Given the description of an element on the screen output the (x, y) to click on. 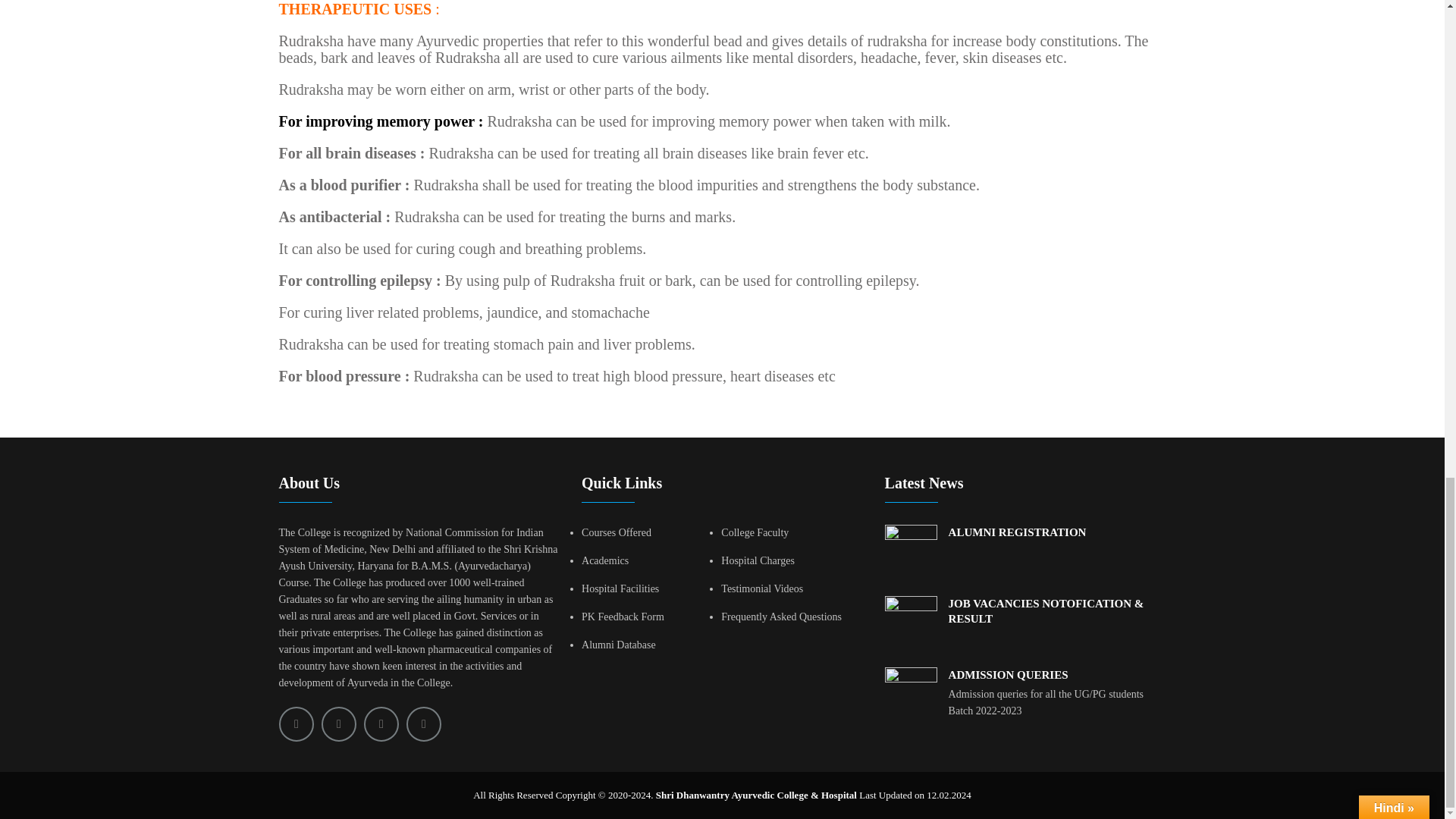
instagram (381, 724)
facebook (296, 724)
twitter (338, 724)
pinterest (423, 724)
